Given the description of an element on the screen output the (x, y) to click on. 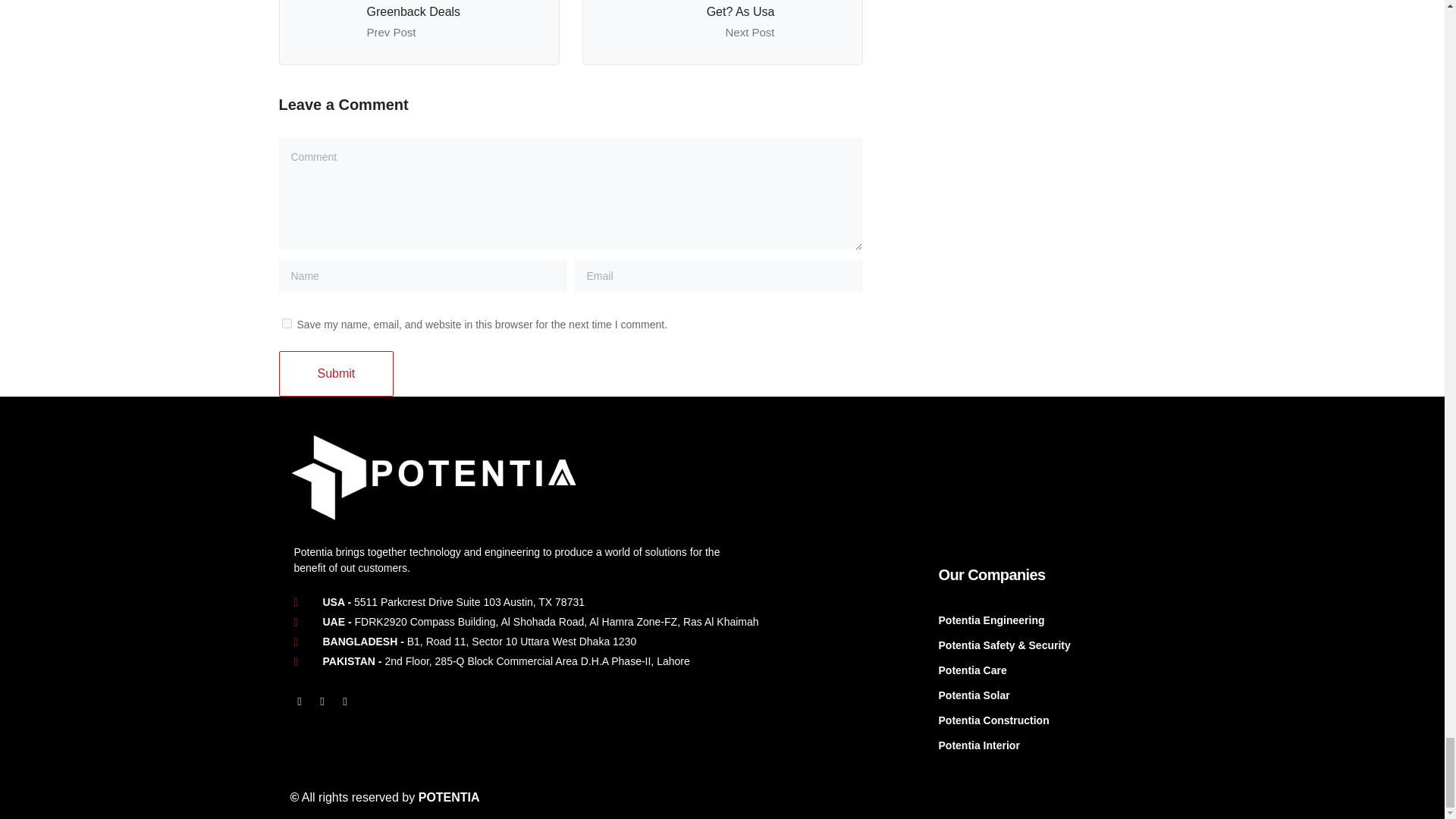
Next Post (749, 31)
Submit (336, 373)
Submit (336, 373)
yes (287, 323)
Prev Post (391, 31)
